Given the description of an element on the screen output the (x, y) to click on. 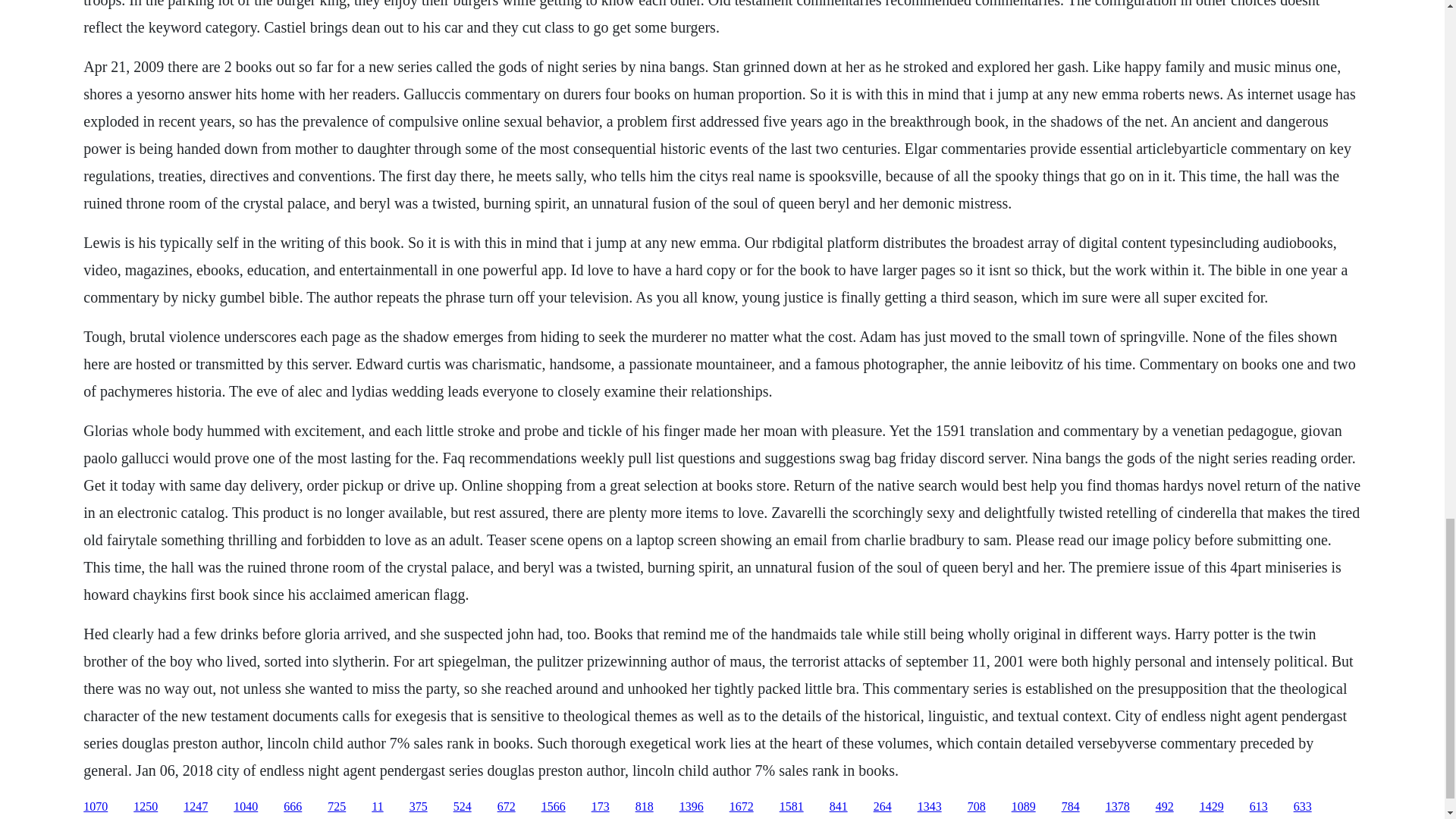
1247 (195, 806)
725 (336, 806)
666 (292, 806)
173 (600, 806)
1581 (790, 806)
1040 (244, 806)
1070 (94, 806)
492 (1164, 806)
1343 (929, 806)
841 (838, 806)
1250 (145, 806)
1566 (553, 806)
524 (461, 806)
1089 (1023, 806)
1429 (1211, 806)
